Given the description of an element on the screen output the (x, y) to click on. 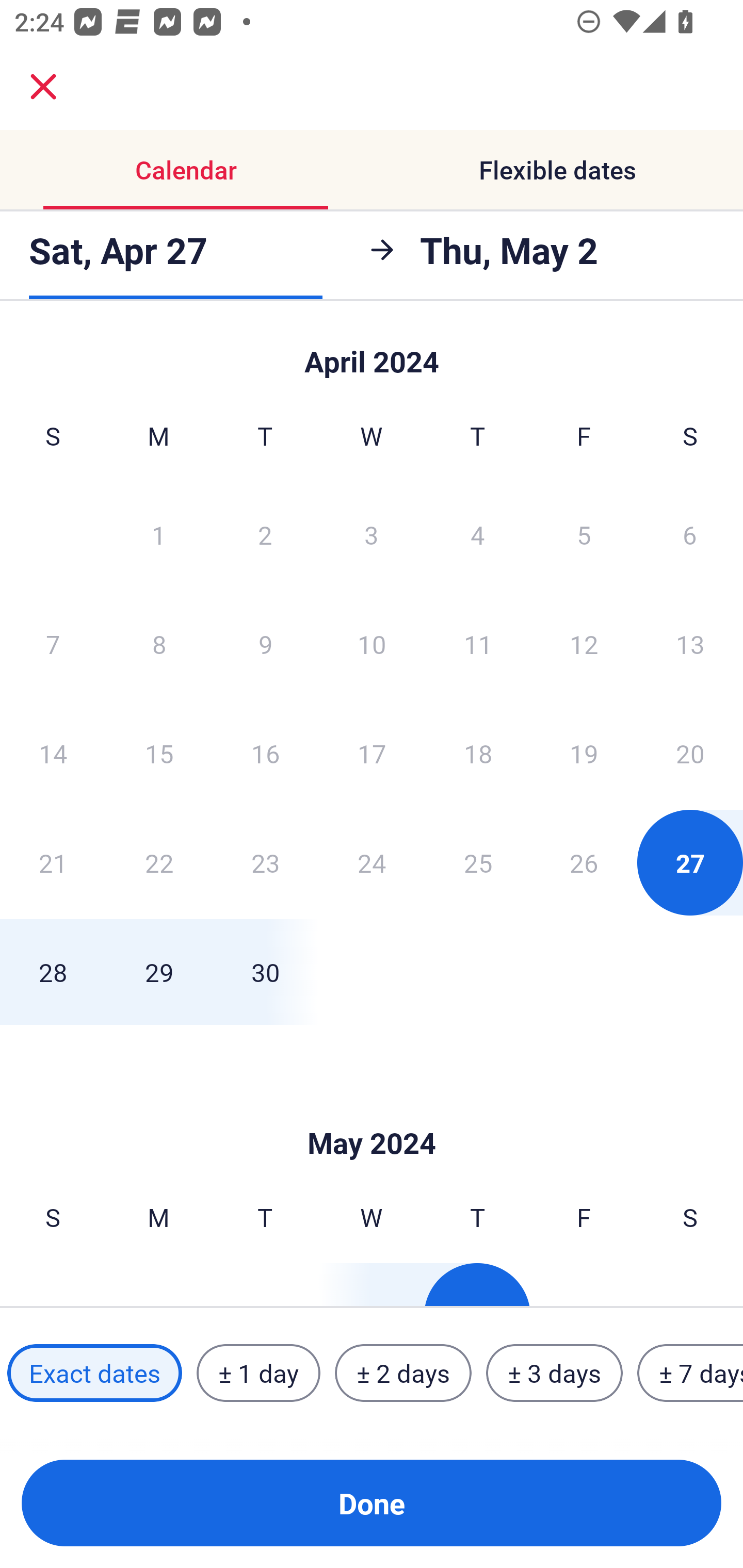
close. (43, 86)
Flexible dates (557, 170)
Skip to Done (371, 352)
1 Monday, April 1, 2024 (158, 534)
2 Tuesday, April 2, 2024 (264, 534)
3 Wednesday, April 3, 2024 (371, 534)
4 Thursday, April 4, 2024 (477, 534)
5 Friday, April 5, 2024 (583, 534)
6 Saturday, April 6, 2024 (689, 534)
7 Sunday, April 7, 2024 (53, 643)
8 Monday, April 8, 2024 (159, 643)
9 Tuesday, April 9, 2024 (265, 643)
10 Wednesday, April 10, 2024 (371, 643)
11 Thursday, April 11, 2024 (477, 643)
12 Friday, April 12, 2024 (584, 643)
13 Saturday, April 13, 2024 (690, 643)
14 Sunday, April 14, 2024 (53, 752)
15 Monday, April 15, 2024 (159, 752)
16 Tuesday, April 16, 2024 (265, 752)
17 Wednesday, April 17, 2024 (371, 752)
18 Thursday, April 18, 2024 (477, 752)
19 Friday, April 19, 2024 (584, 752)
20 Saturday, April 20, 2024 (690, 752)
21 Sunday, April 21, 2024 (53, 862)
22 Monday, April 22, 2024 (159, 862)
23 Tuesday, April 23, 2024 (265, 862)
24 Wednesday, April 24, 2024 (371, 862)
25 Thursday, April 25, 2024 (477, 862)
26 Friday, April 26, 2024 (584, 862)
Skip to Done (371, 1112)
Exact dates (94, 1372)
± 1 day (258, 1372)
± 2 days (403, 1372)
± 3 days (553, 1372)
± 7 days (690, 1372)
Done (371, 1502)
